Given the description of an element on the screen output the (x, y) to click on. 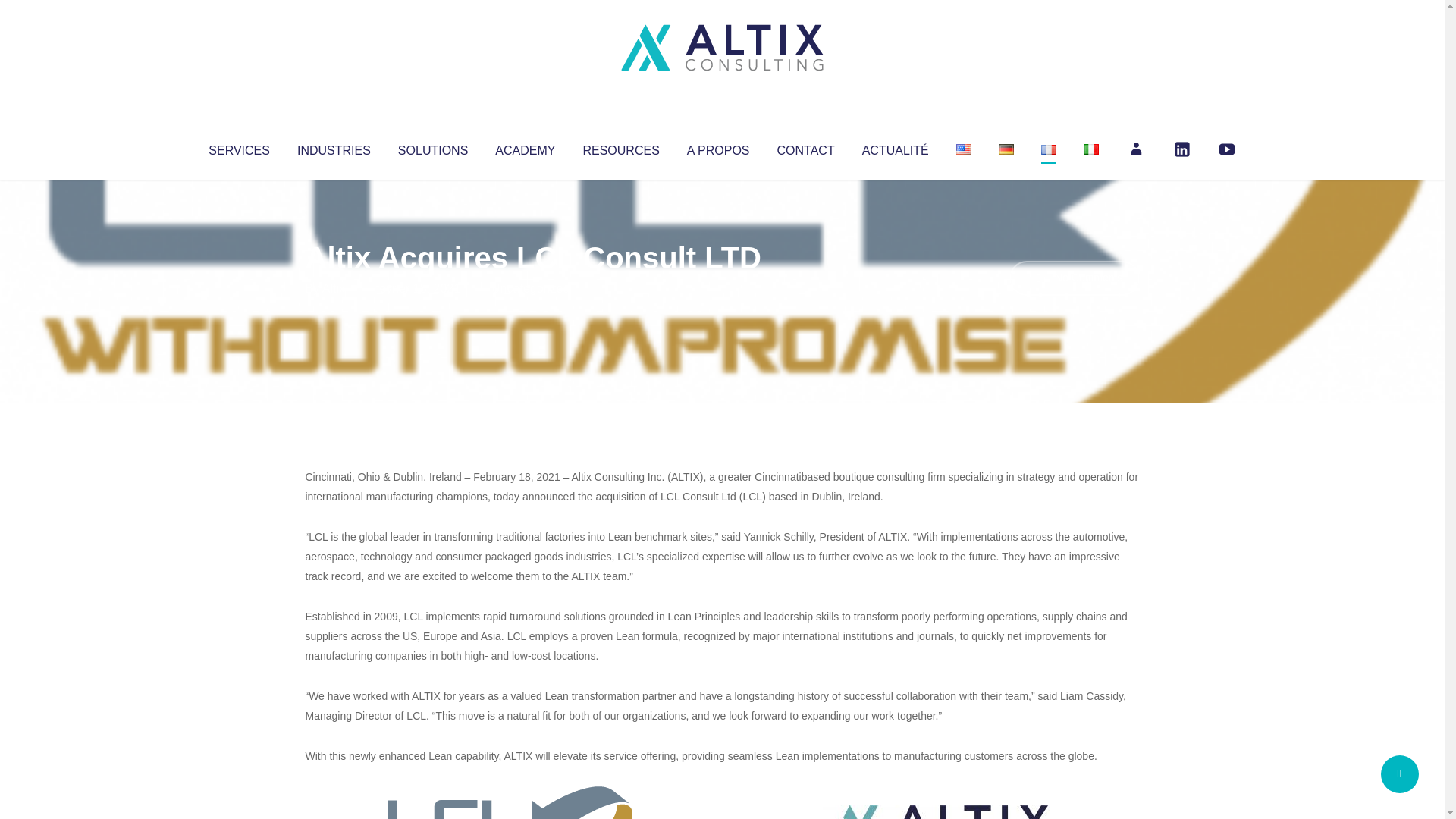
Altix (333, 287)
No Comments (1073, 278)
INDUSTRIES (334, 146)
SOLUTIONS (432, 146)
RESOURCES (620, 146)
Uncategorized (530, 287)
ACADEMY (524, 146)
SERVICES (238, 146)
Articles par Altix (333, 287)
A PROPOS (718, 146)
